Given the description of an element on the screen output the (x, y) to click on. 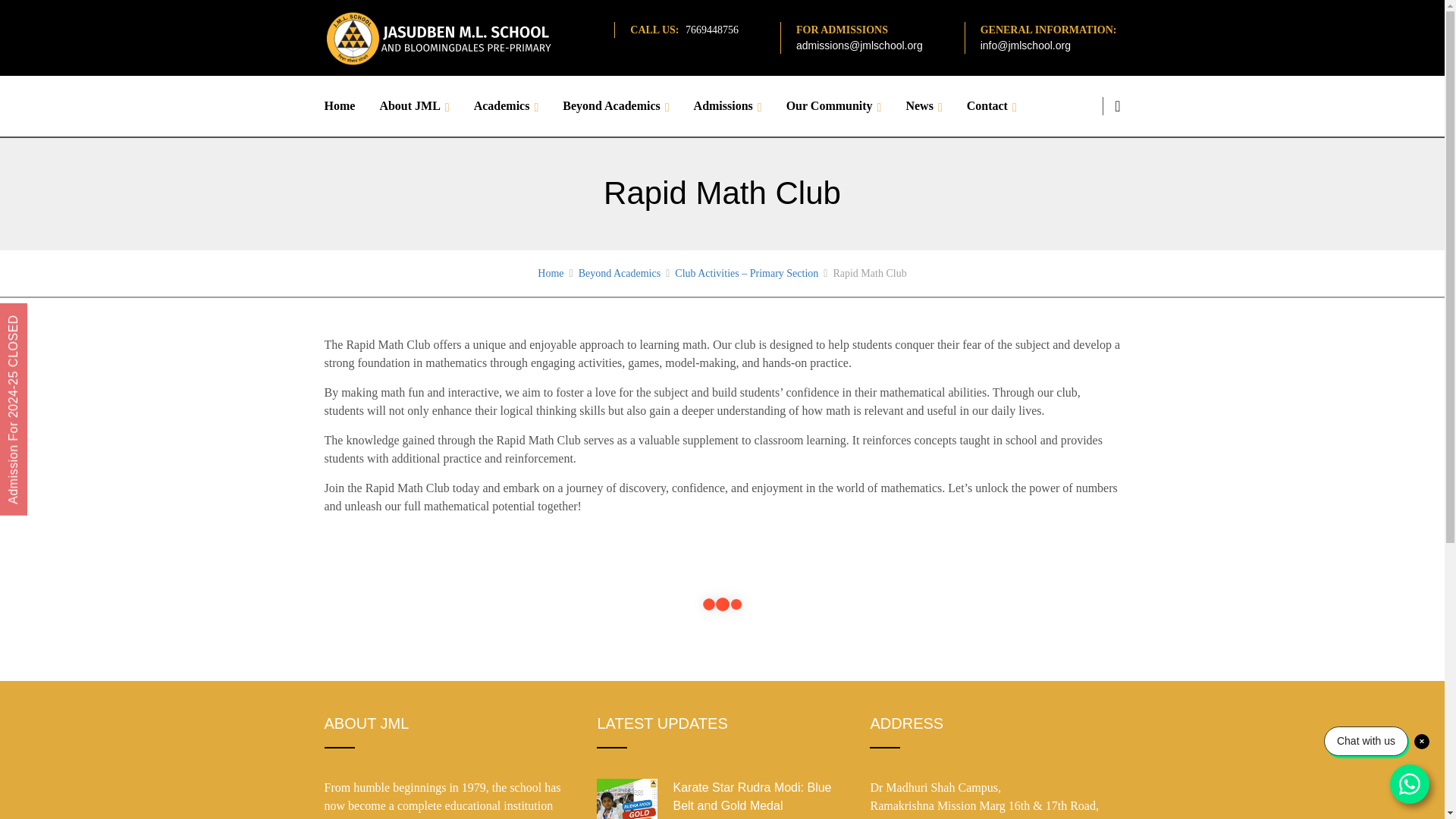
Academics (506, 106)
Beyond Academics (615, 106)
Home (346, 106)
About JML (413, 106)
